Given the description of an element on the screen output the (x, y) to click on. 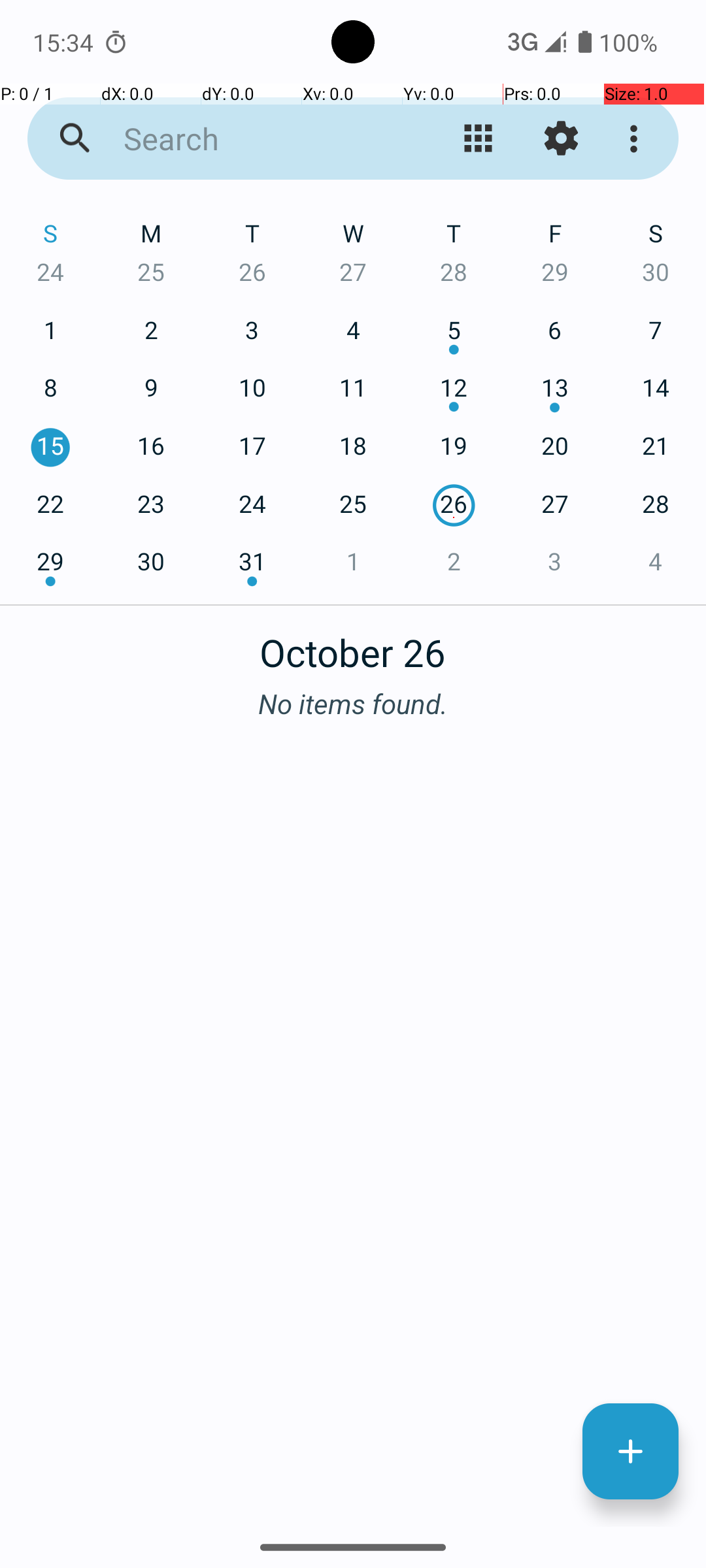
October 26 Element type: android.widget.TextView (352, 644)
